Given the description of an element on the screen output the (x, y) to click on. 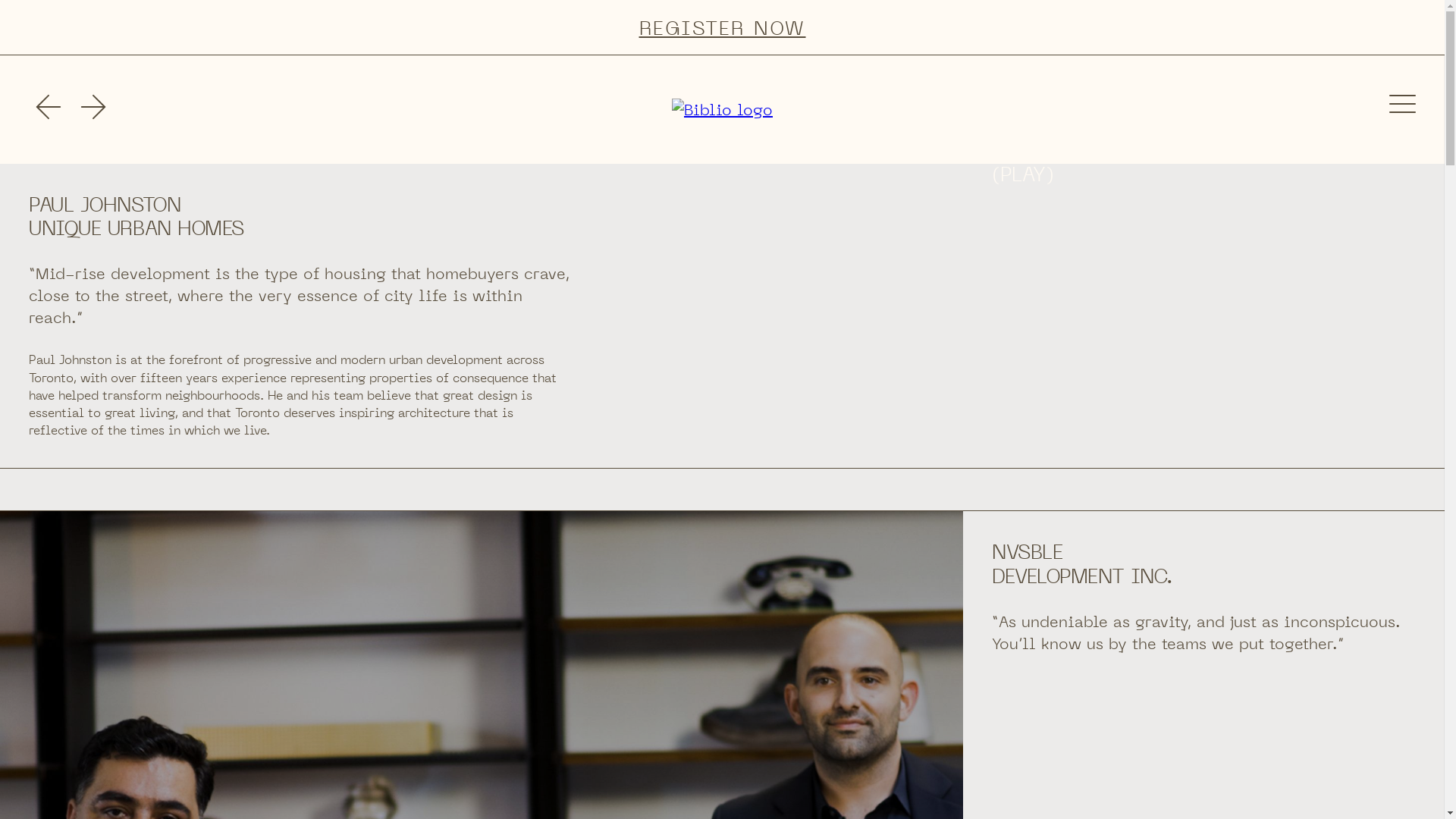
REGISTER NOW Element type: text (722, 27)
